Given the description of an element on the screen output the (x, y) to click on. 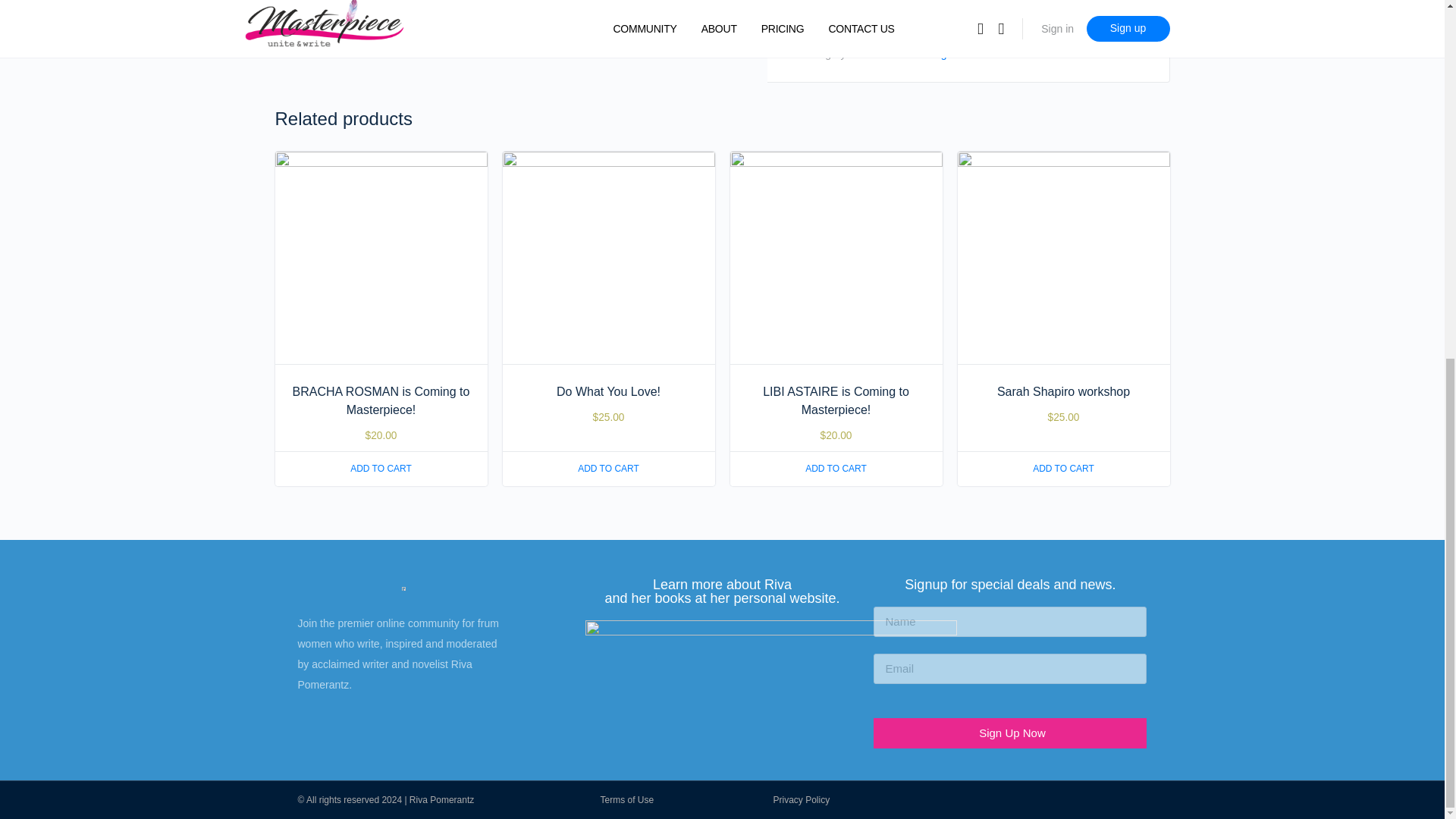
Uncategorized (941, 54)
ADD TO CART (380, 468)
ADD TO CART (608, 468)
ADD TO CART (1062, 468)
ADD TO CART (835, 468)
